Given the description of an element on the screen output the (x, y) to click on. 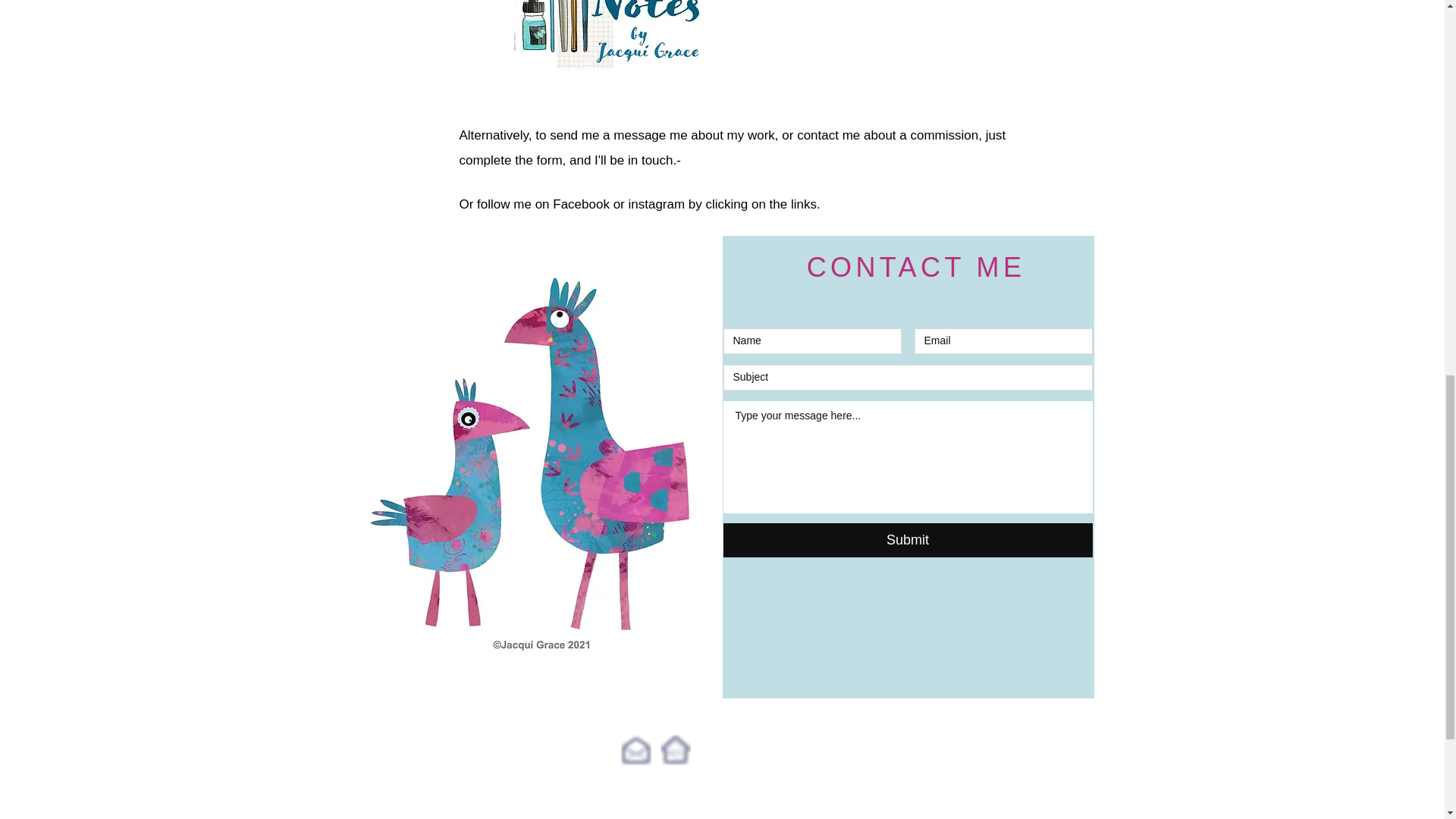
Submit (908, 540)
